Given the description of an element on the screen output the (x, y) to click on. 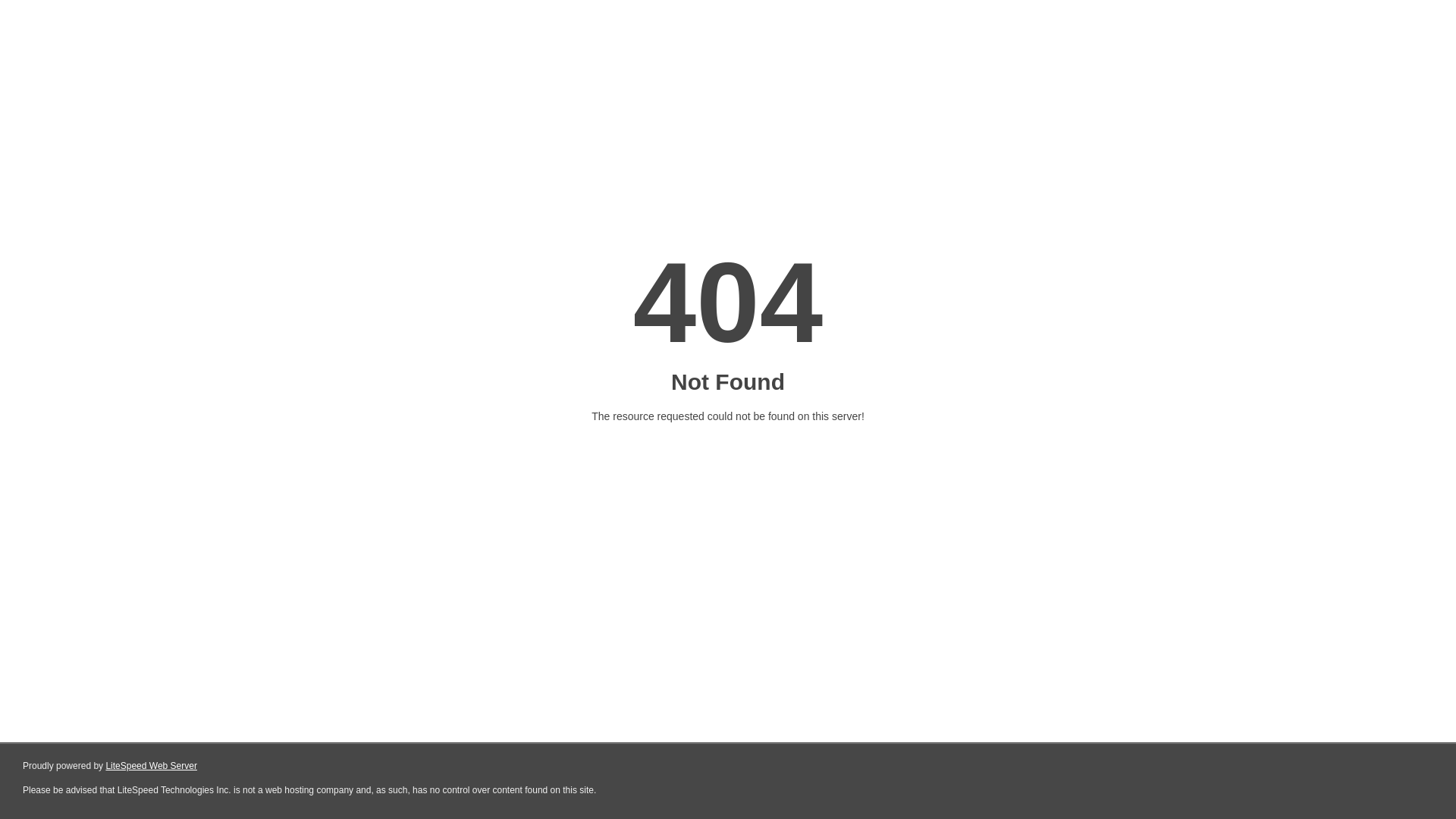
LiteSpeed Web Server Element type: text (151, 765)
